Given the description of an element on the screen output the (x, y) to click on. 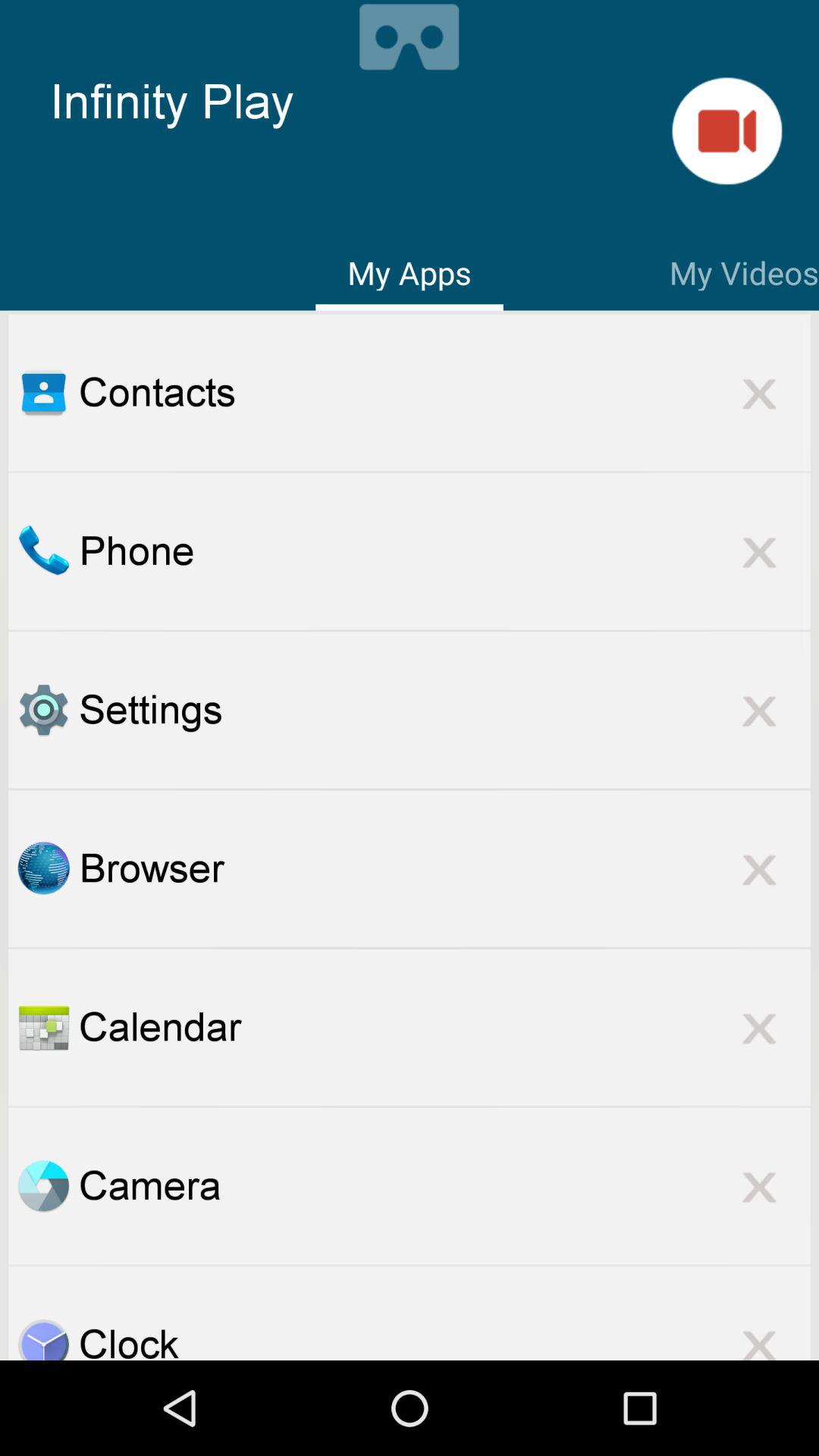
jump to browser (444, 868)
